Given the description of an element on the screen output the (x, y) to click on. 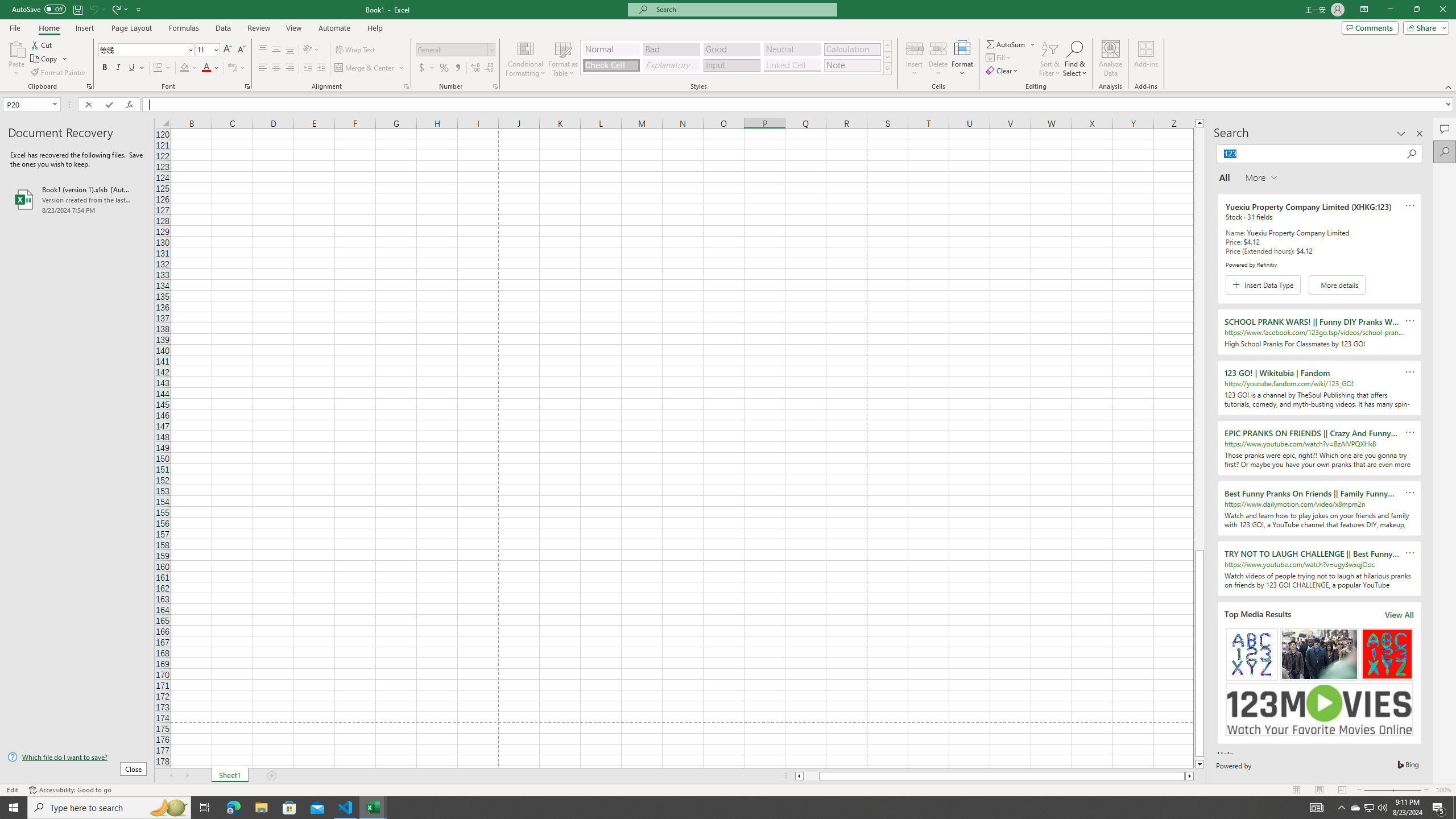
Comma Style (457, 67)
Paste (16, 48)
Format (962, 58)
Bad (671, 49)
Center (276, 67)
Explanatory Text (671, 65)
Merge & Center (365, 67)
Cut (42, 44)
Task Pane Options (1400, 133)
Formula Bar (799, 104)
